Given the description of an element on the screen output the (x, y) to click on. 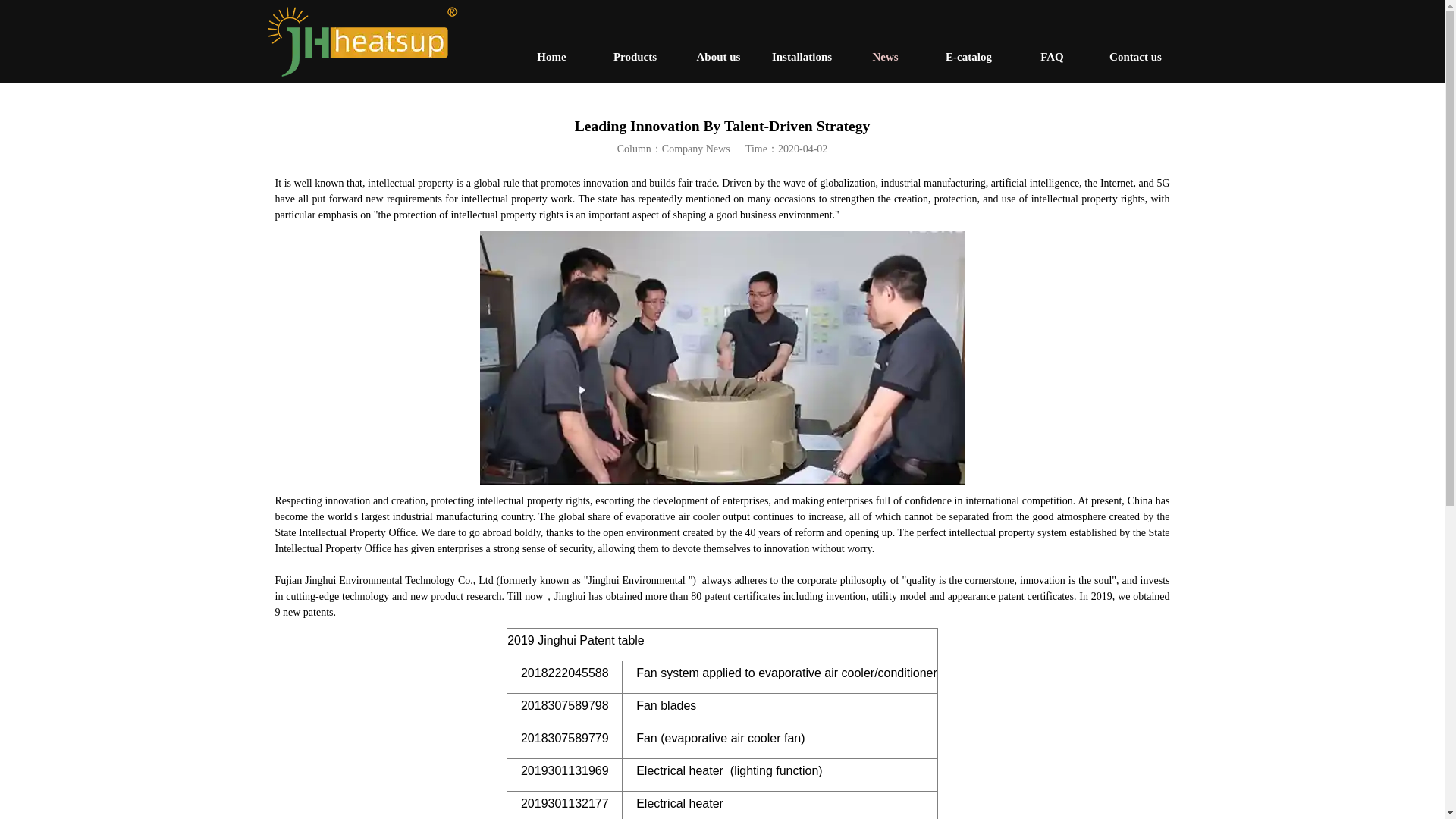
Home (550, 56)
FAQ (1051, 56)
About us (718, 56)
Installations (801, 56)
Contact us (1134, 56)
News (884, 56)
E-catalog (968, 56)
Products (634, 56)
